Given the description of an element on the screen output the (x, y) to click on. 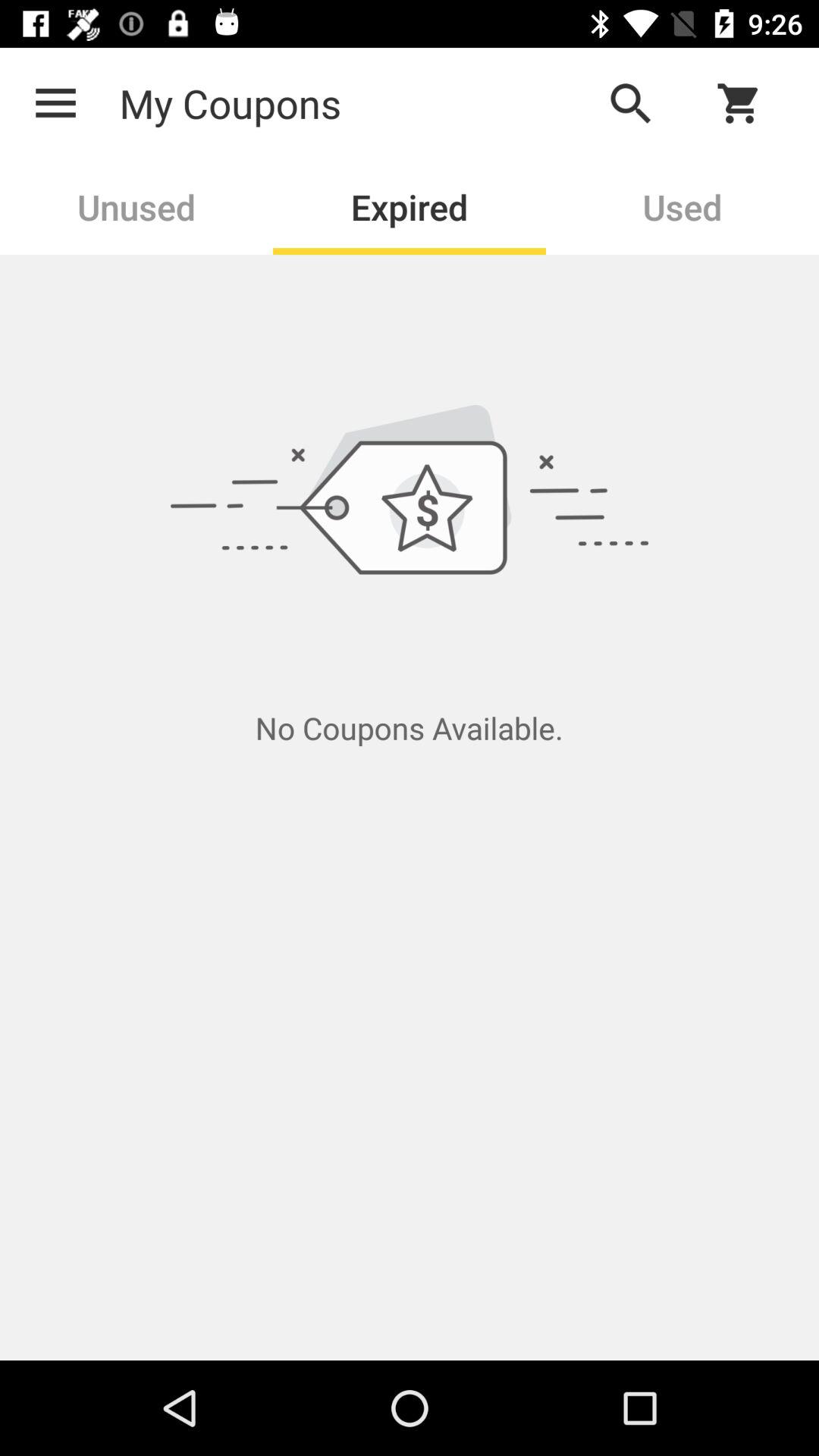
tap the icon above the used item (630, 103)
